Given the description of an element on the screen output the (x, y) to click on. 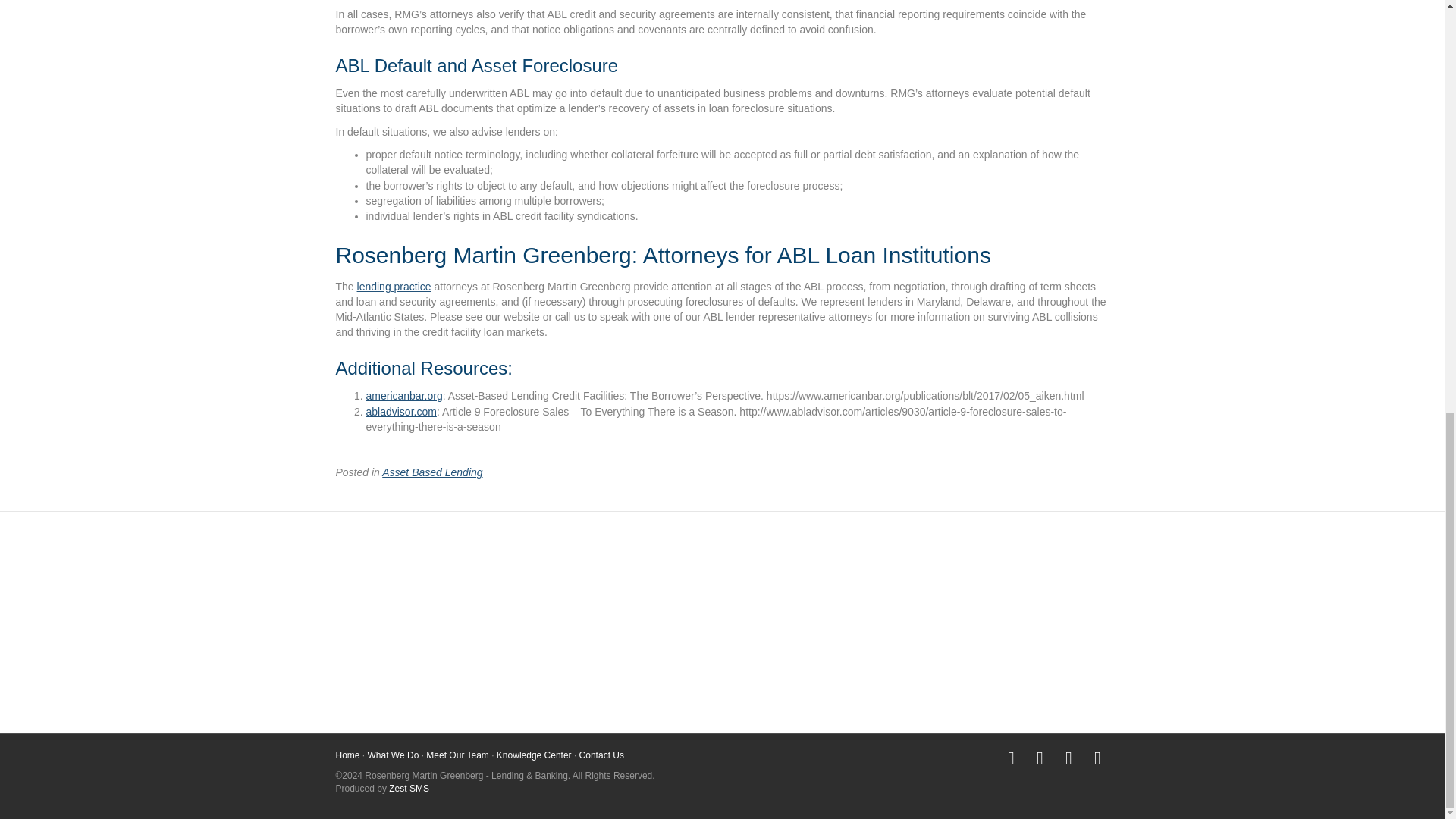
abladvisor.com (400, 411)
Meet Our Team (456, 755)
Bonds and Tax Credits (453, 632)
Syndicated Loans (989, 656)
Document Review (722, 606)
Foreclosures (722, 629)
Loan Modification and Forbearance Agreements (722, 683)
Home (346, 755)
americanbar.org (403, 395)
Note Sales (989, 609)
Bankruptcy (453, 609)
What We Do (393, 755)
Loan Due Diligence (722, 652)
Non-Consolidation Opinions (989, 587)
Asset Based Lending (431, 472)
